Given the description of an element on the screen output the (x, y) to click on. 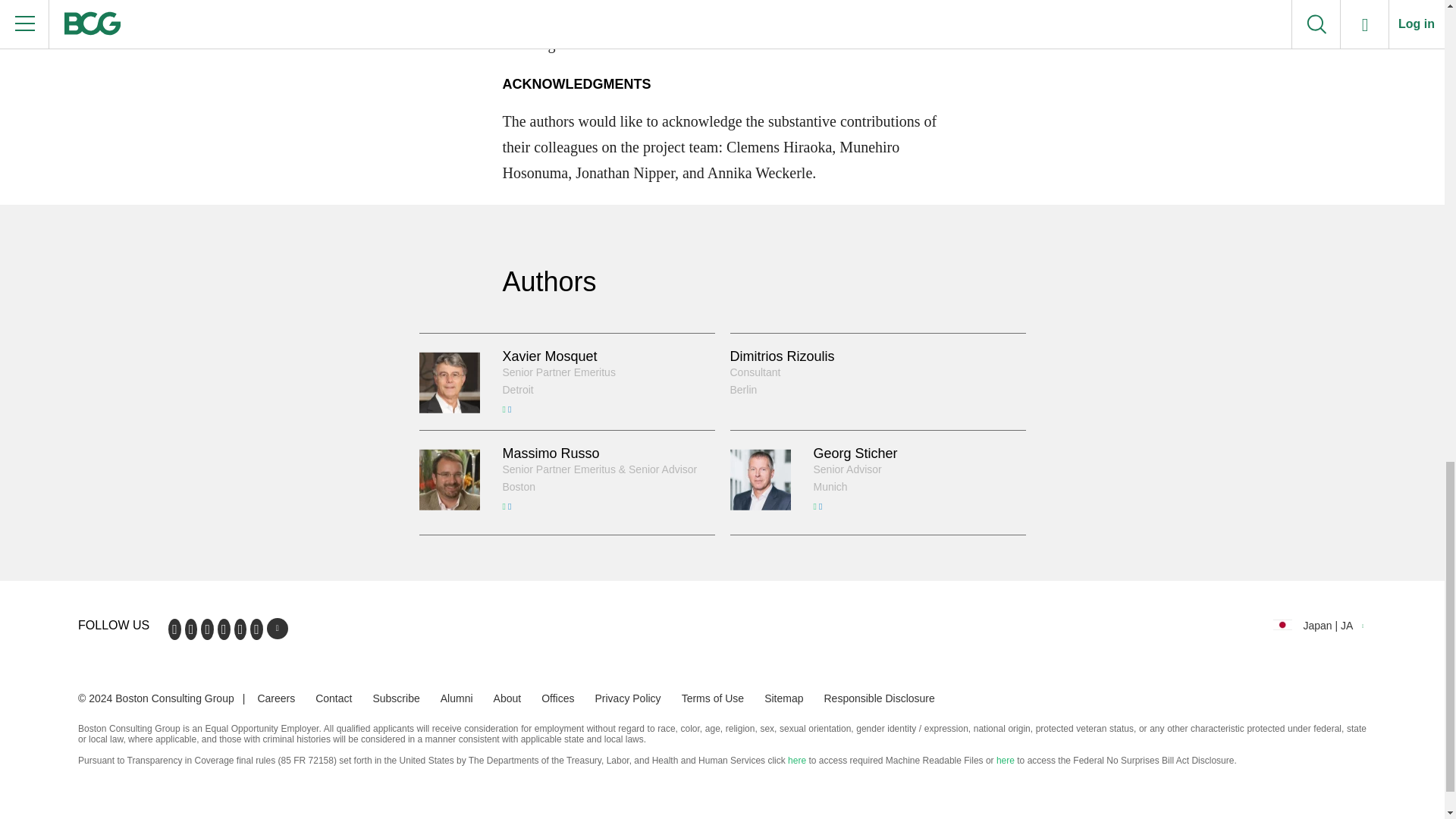
Xavier Mosquet (549, 355)
Massimo Russo (550, 453)
